Given the description of an element on the screen output the (x, y) to click on. 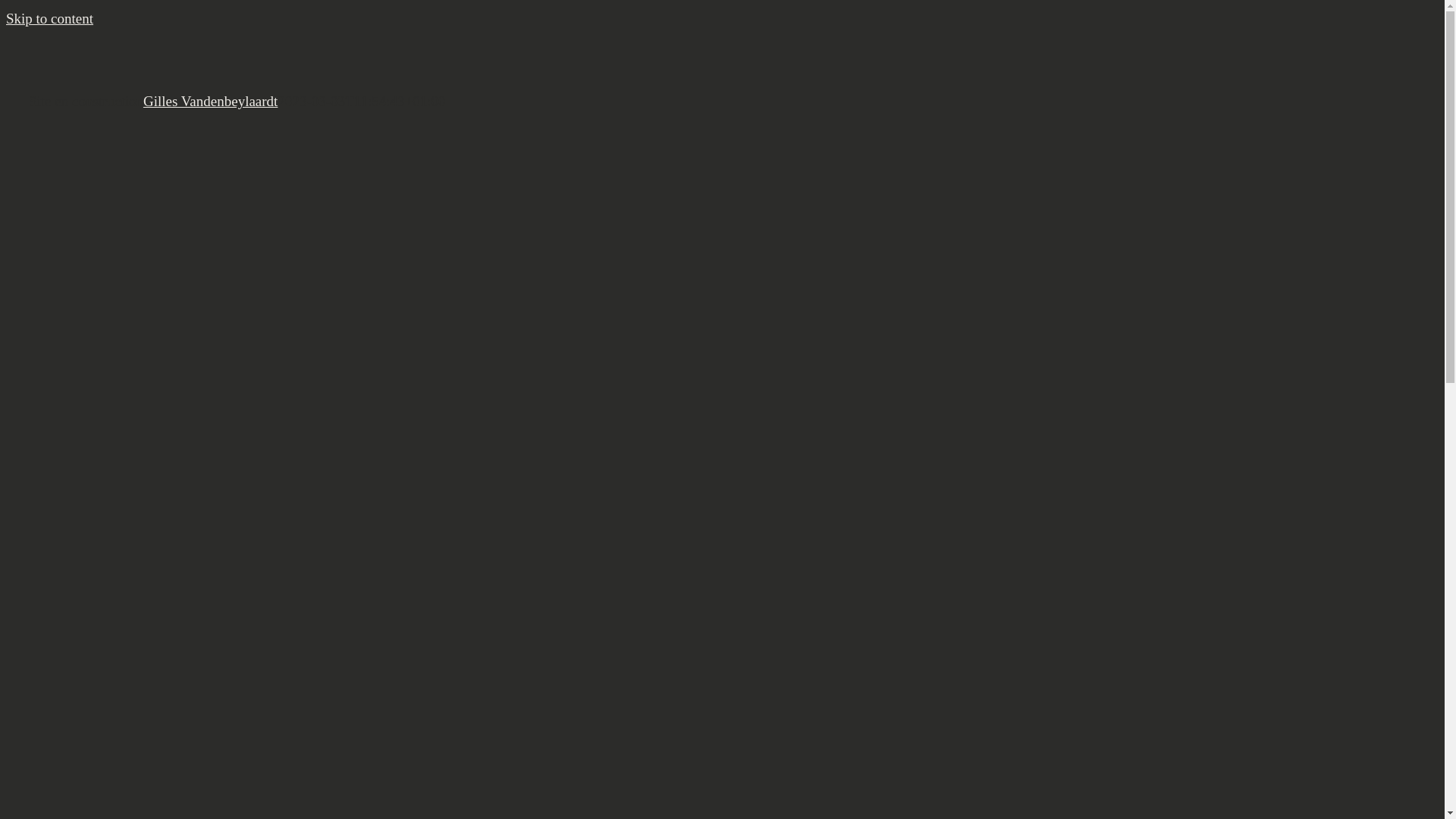
Gilles Vandenbeylaardt Element type: text (210, 101)
Skip to content Element type: text (49, 18)
